Given the description of an element on the screen output the (x, y) to click on. 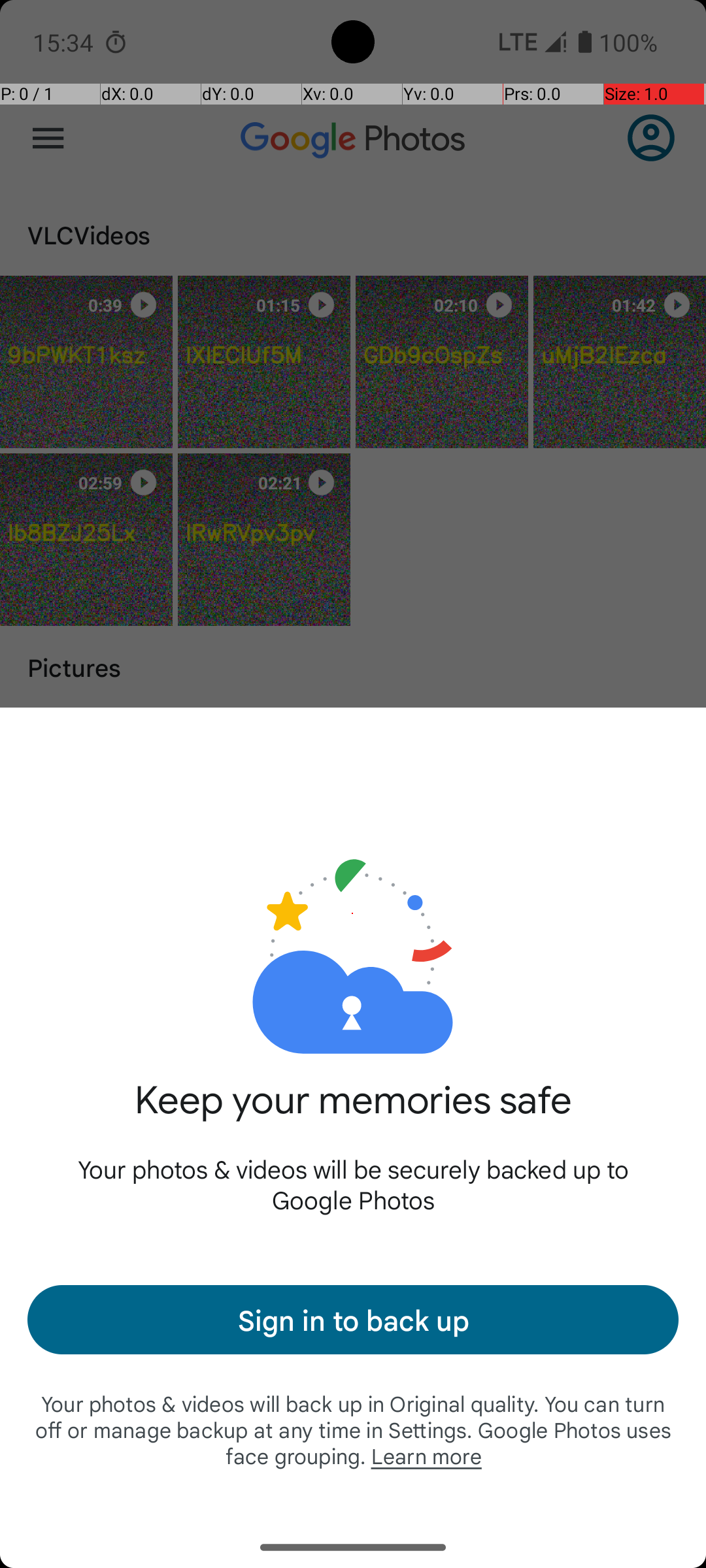
Photos and videos stored in a cloud Element type: android.widget.ImageView (352, 913)
Keep your memories safe Element type: android.widget.TextView (352, 1113)
Your photos & videos will be securely backed up to Google Photos Element type: android.widget.TextView (352, 1183)
Sign in to back up Element type: android.widget.Button (352, 1319)
Your photos & videos will back up in Original quality. You can turn off or manage backup at any time in Settings. Google Photos uses face grouping. Learn more Element type: android.widget.TextView (352, 1429)
